Given the description of an element on the screen output the (x, y) to click on. 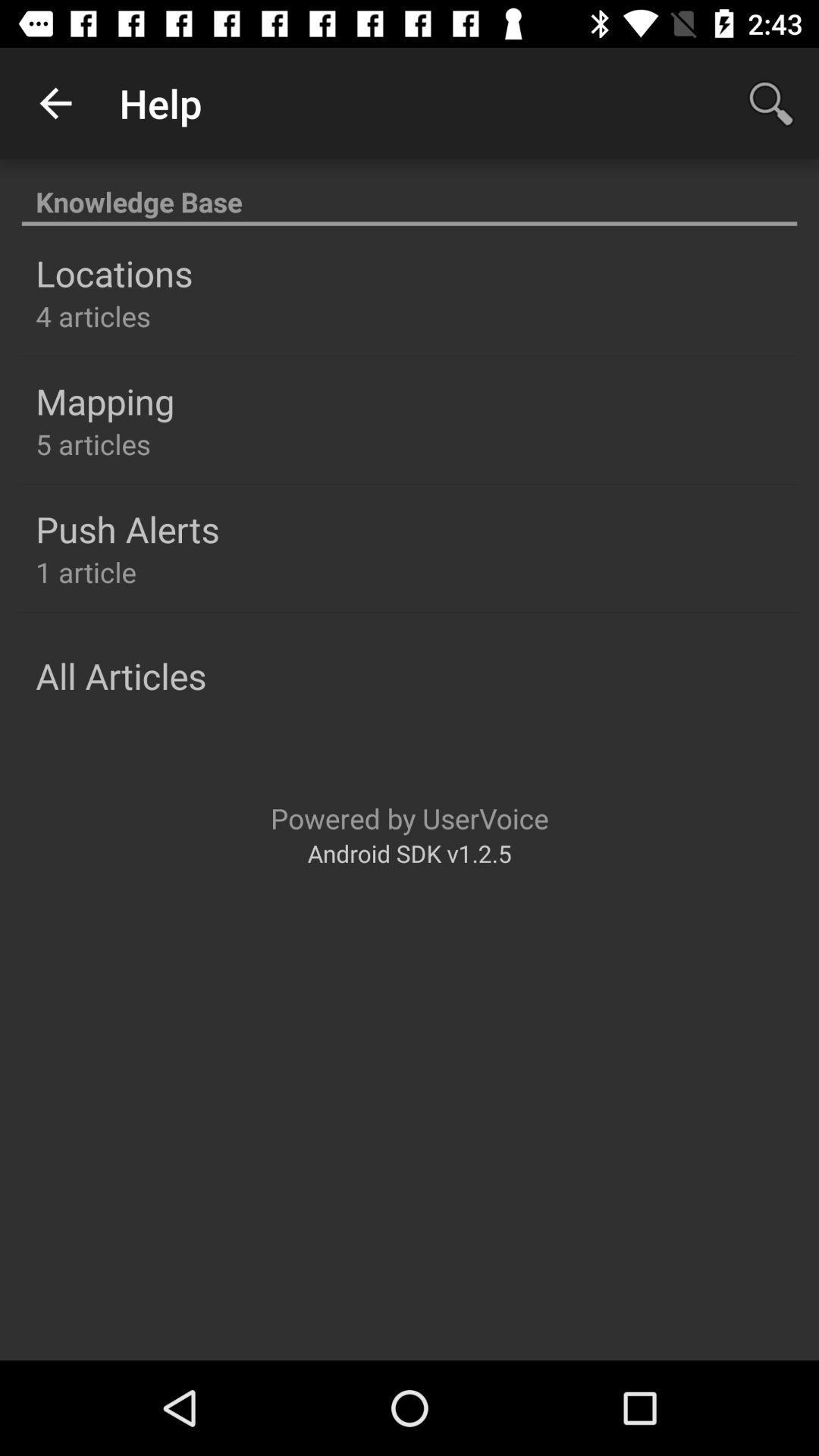
launch the item above the locations (409, 193)
